Given the description of an element on the screen output the (x, y) to click on. 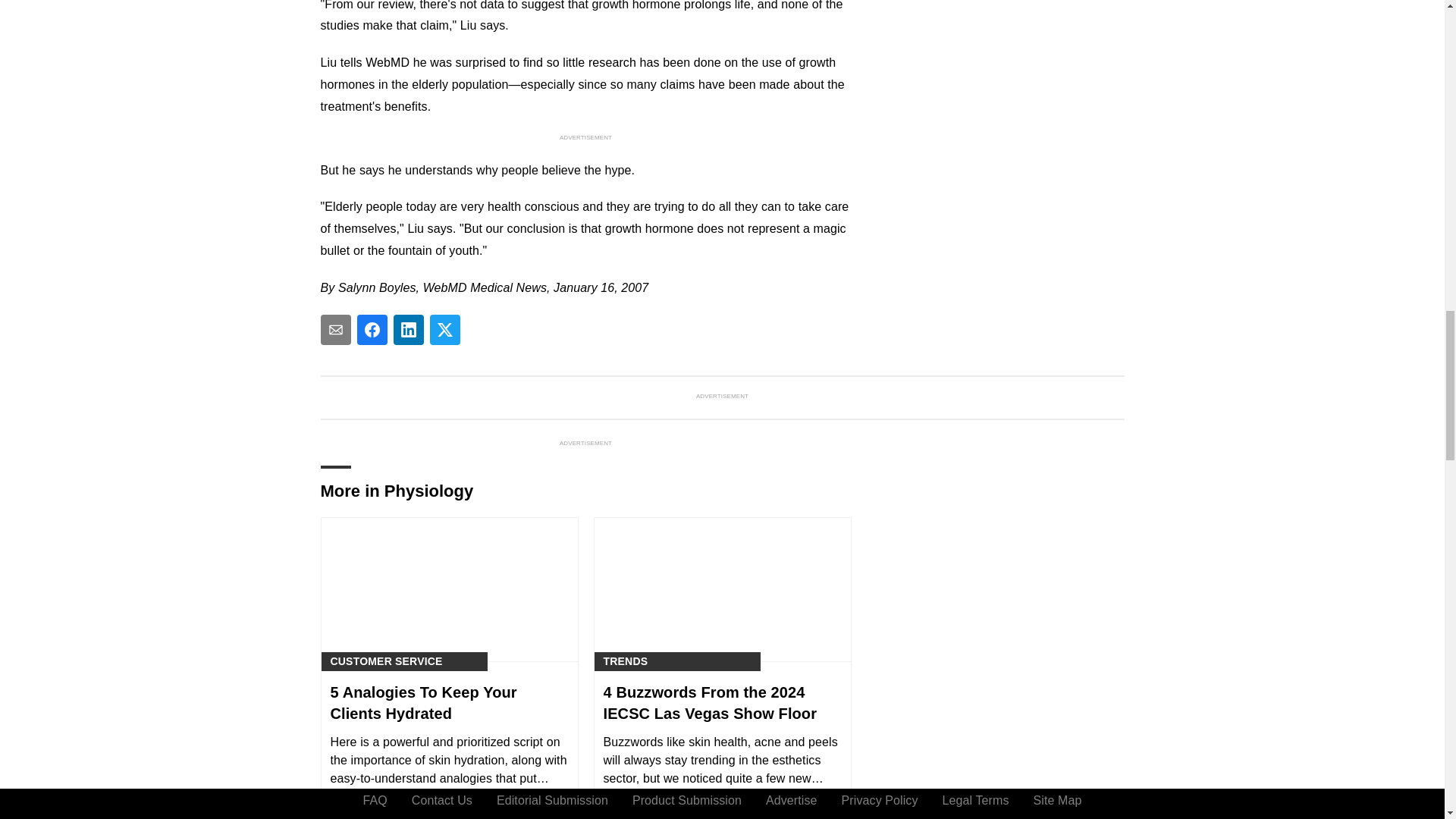
Share To twitter (444, 329)
Share To facebook (371, 329)
Share To email (335, 329)
Share To linkedin (408, 329)
